Given the description of an element on the screen output the (x, y) to click on. 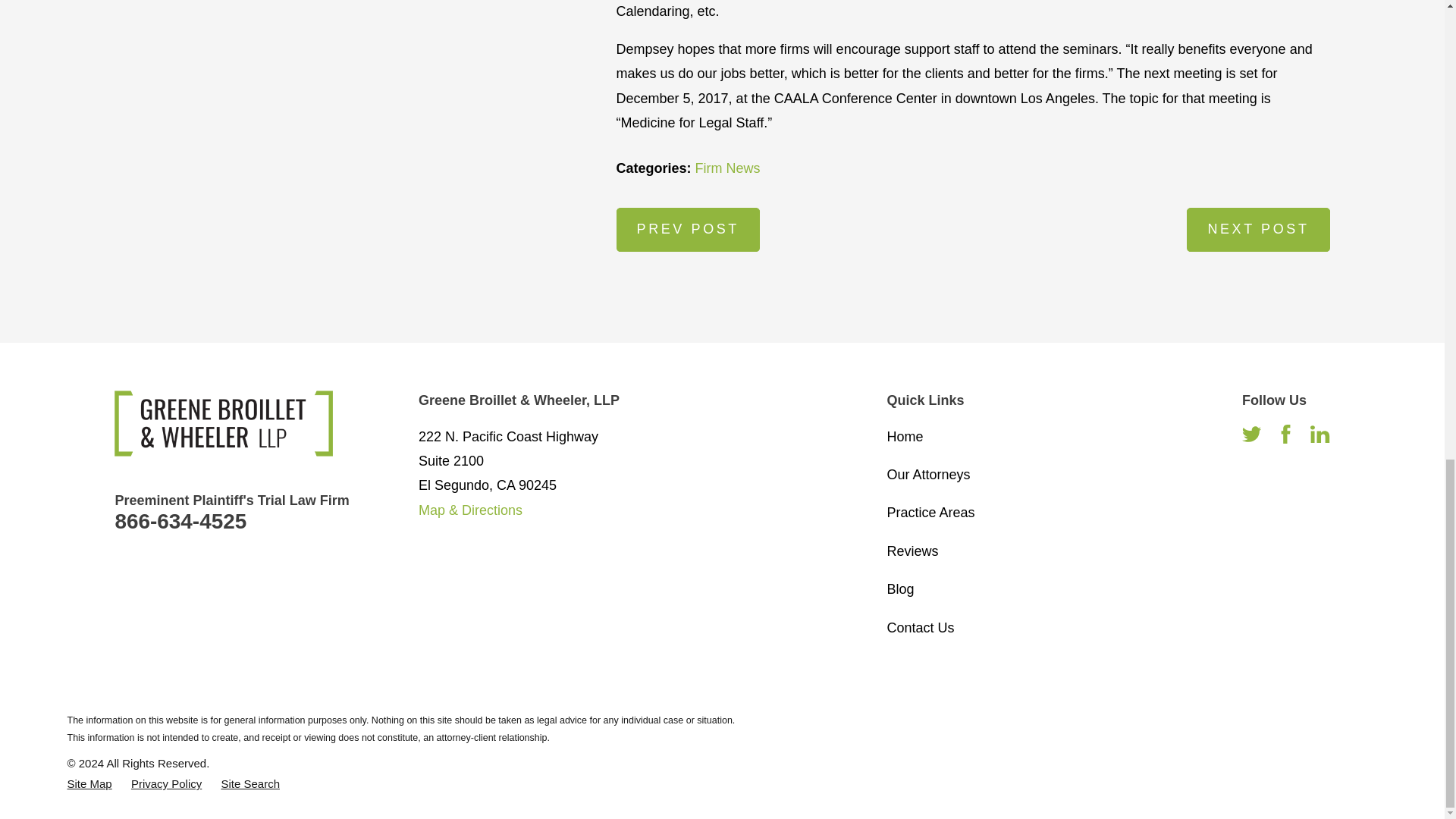
LinkedIn (1319, 434)
Home (224, 423)
Twitter (1250, 434)
Facebook (1285, 434)
